Given the description of an element on the screen output the (x, y) to click on. 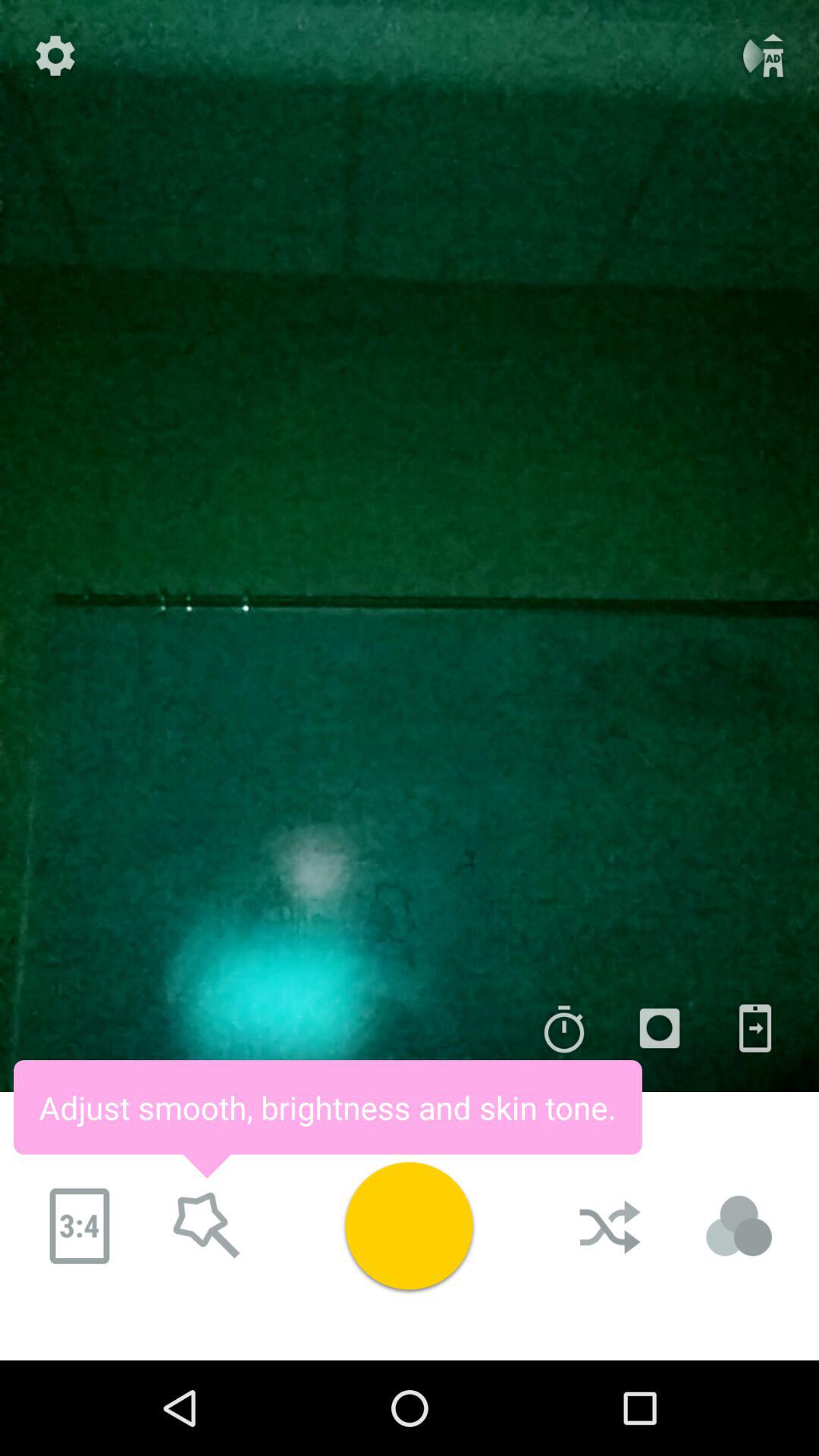
shuffle (611, 1226)
